Given the description of an element on the screen output the (x, y) to click on. 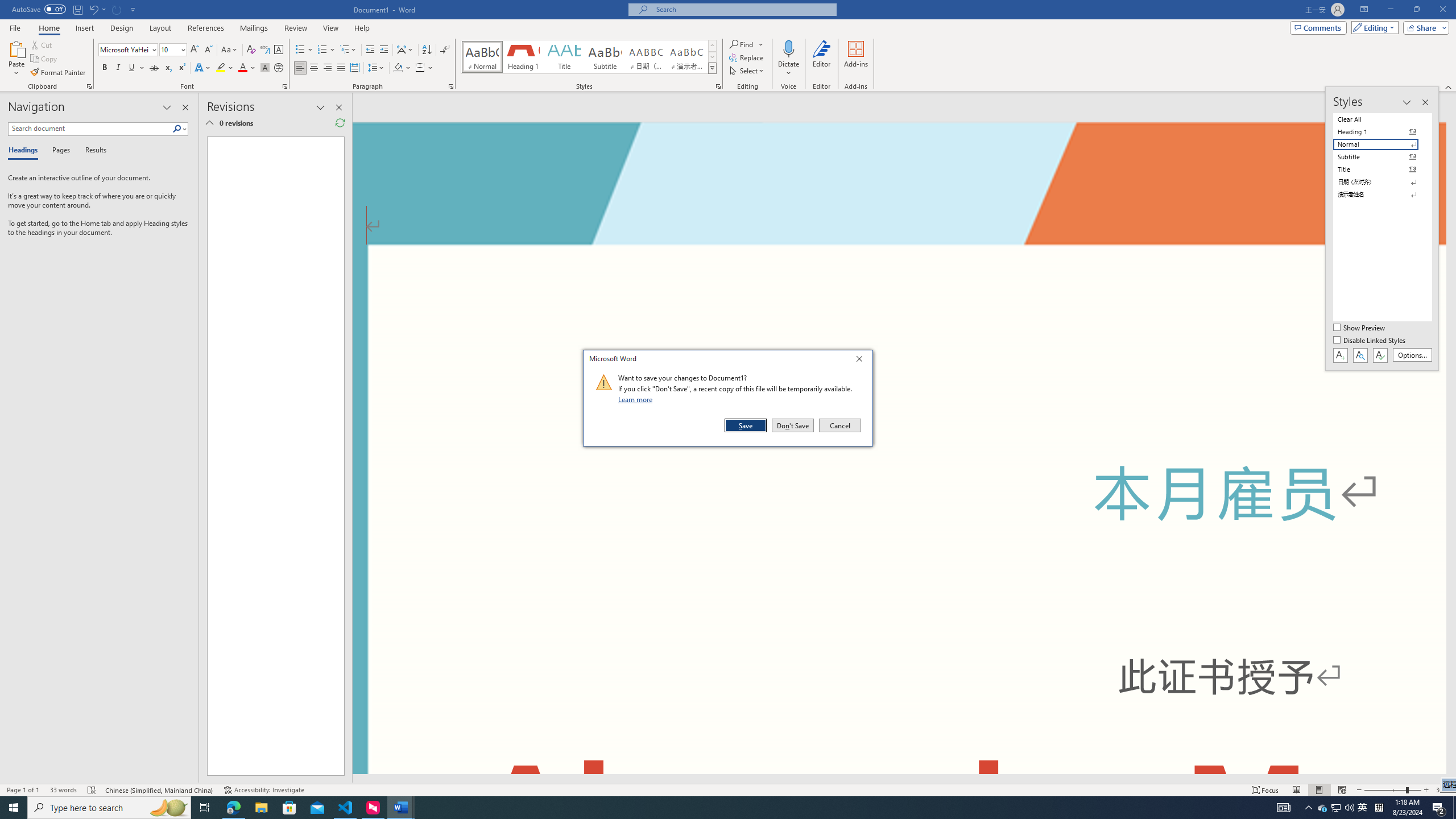
Replace... (747, 56)
